Given the description of an element on the screen output the (x, y) to click on. 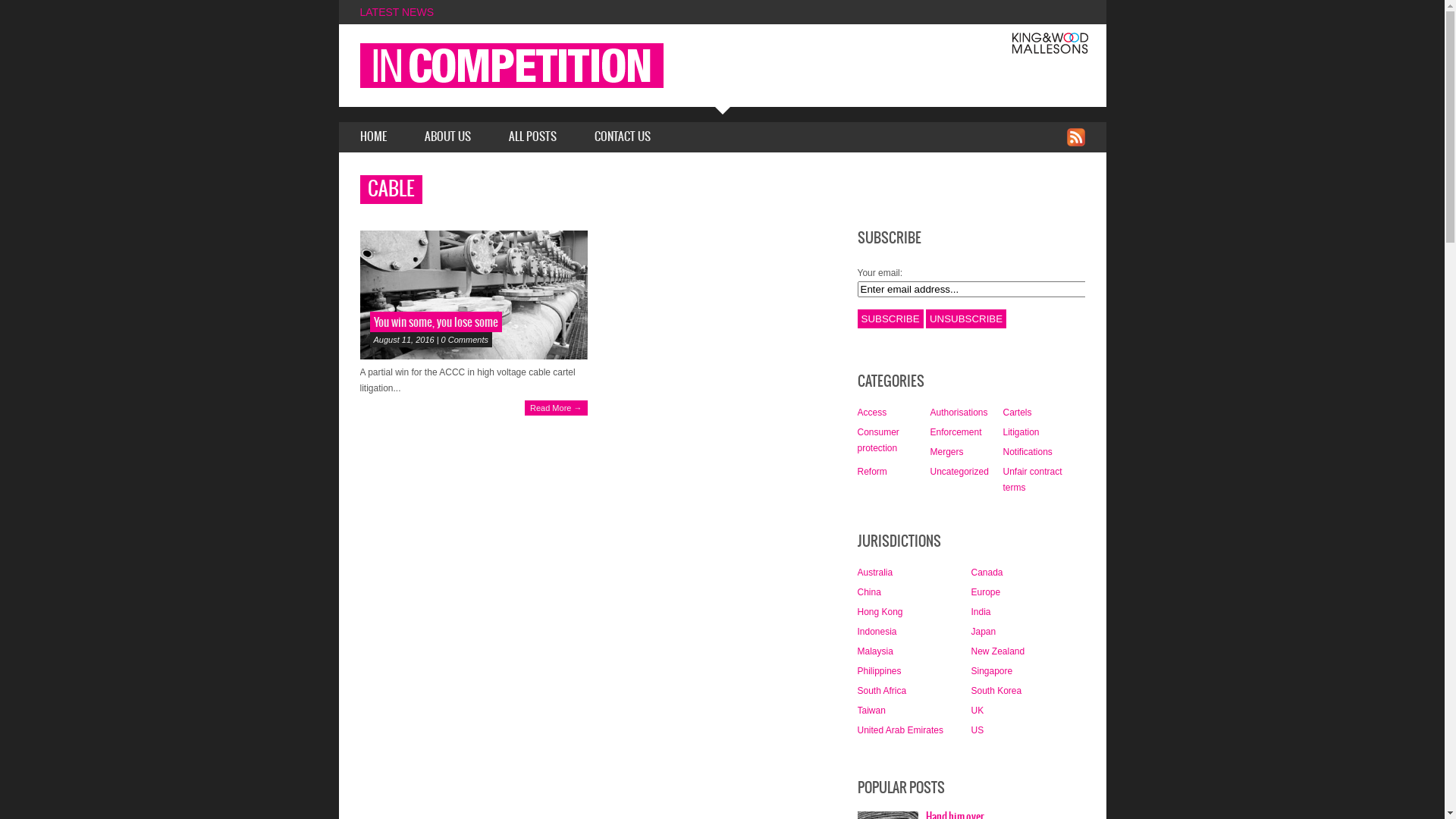
US Element type: text (976, 729)
Europe Element type: text (985, 591)
South Africa Element type: text (881, 690)
Enforcement Element type: text (955, 431)
Reform Element type: text (871, 471)
United Arab Emirates Element type: text (899, 729)
Litigation Element type: text (1020, 431)
ALL POSTS Element type: text (531, 137)
Cartels Element type: text (1016, 412)
India Element type: text (980, 611)
Unsubscribe Element type: text (965, 318)
Singapore Element type: text (991, 670)
Mergers Element type: text (946, 451)
Access Element type: text (871, 412)
Australia Element type: text (874, 572)
Subscribe Element type: text (889, 318)
ABOUT US Element type: text (447, 137)
RSS Feed Element type: hover (1075, 137)
Malaysia Element type: text (874, 651)
Consumer protection Element type: text (877, 439)
CONTACT US Element type: text (622, 137)
New Zealand Element type: text (997, 651)
Indonesia Element type: text (876, 631)
Canada Element type: text (986, 572)
You win some, you lose some Element type: hover (472, 294)
HOME Element type: text (372, 137)
South Korea Element type: text (995, 690)
Unfair contract terms Element type: text (1031, 479)
China Element type: text (868, 591)
Uncategorized Element type: text (958, 471)
You win some, you lose some Element type: text (435, 322)
Authorisations Element type: text (958, 412)
Taiwan Element type: text (870, 710)
RSS Feed Element type: hover (1075, 136)
Philippines Element type: text (878, 670)
Japan Element type: text (982, 631)
Hong Kong Element type: text (879, 611)
Notifications Element type: text (1026, 451)
UK Element type: text (976, 710)
